Given the description of an element on the screen output the (x, y) to click on. 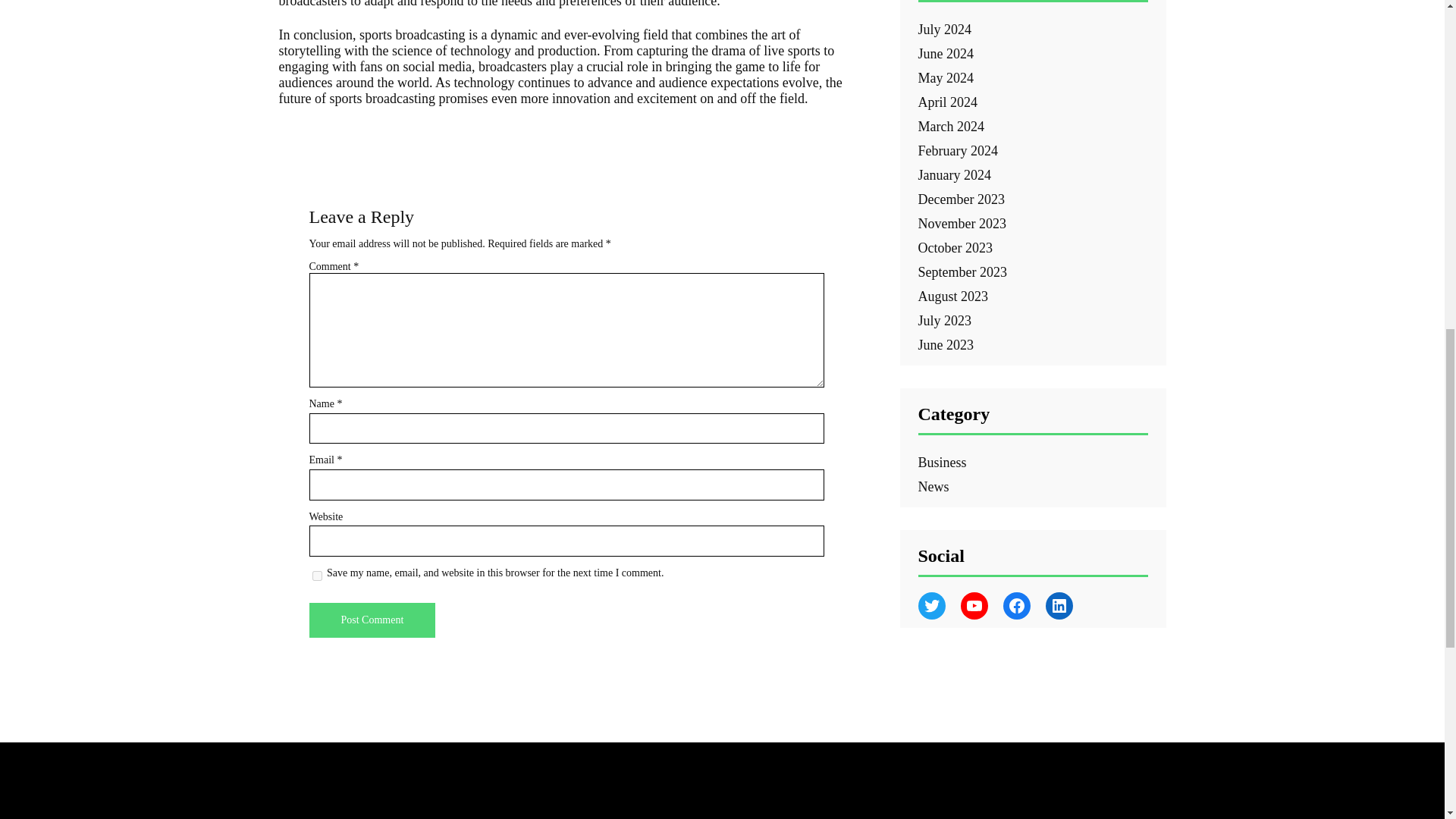
yes (317, 575)
Post Comment (371, 620)
Twitter (930, 605)
June 2023 (945, 344)
LinkedIn (1058, 605)
July 2024 (944, 29)
September 2023 (961, 272)
March 2024 (950, 126)
Facebook (1016, 605)
May 2024 (945, 77)
February 2024 (957, 150)
December 2023 (960, 199)
January 2024 (953, 174)
June 2024 (945, 53)
August 2023 (952, 296)
